Given the description of an element on the screen output the (x, y) to click on. 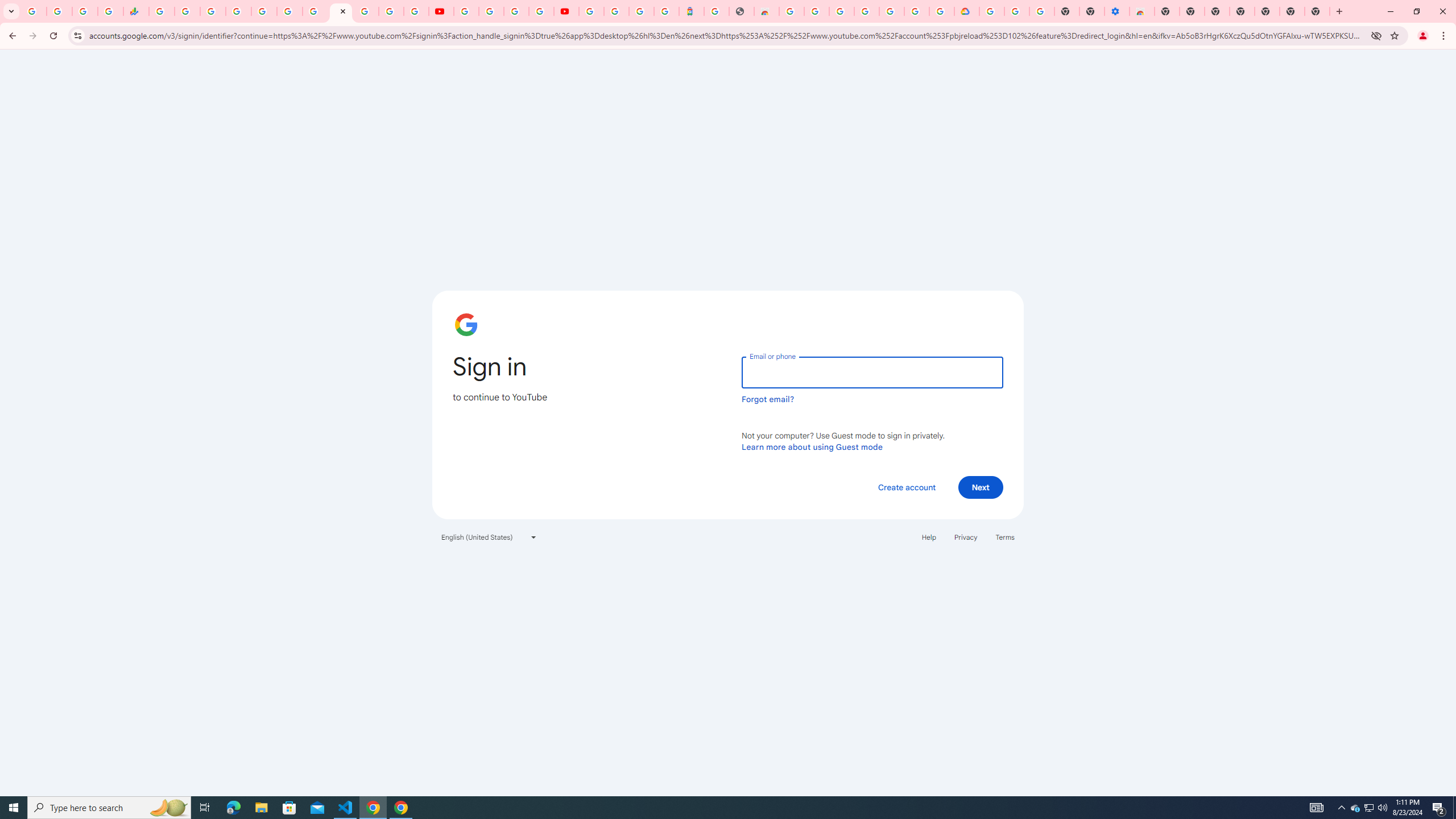
Sign in - Google Accounts (238, 11)
English (United States) (489, 536)
YouTube (440, 11)
YouTube (340, 11)
